Given the description of an element on the screen output the (x, y) to click on. 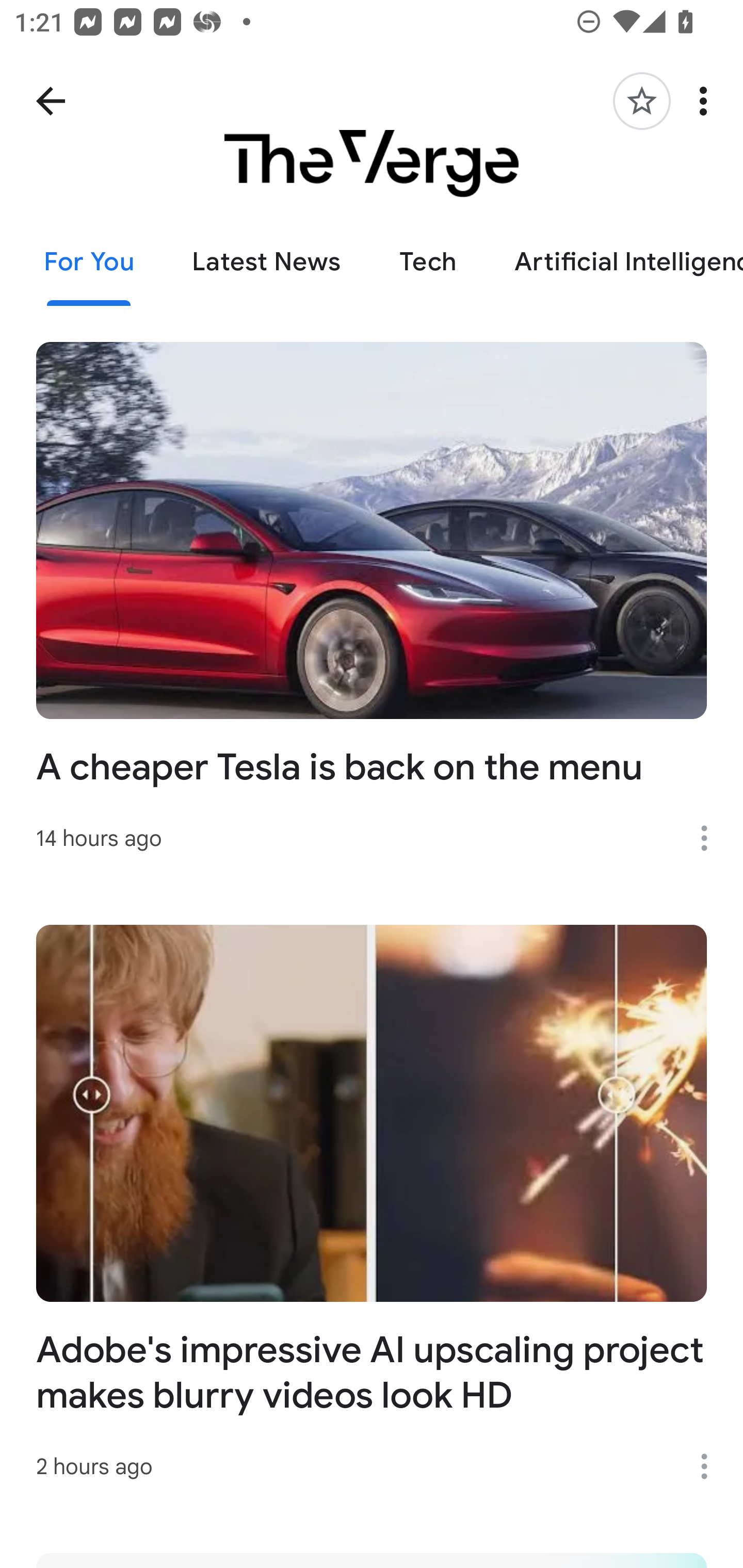
Navigate up (50, 101)
More options (706, 101)
Latest News (266, 262)
Tech (427, 262)
Artificial Intelligence (614, 262)
More options (711, 837)
More options (711, 1466)
